Given the description of an element on the screen output the (x, y) to click on. 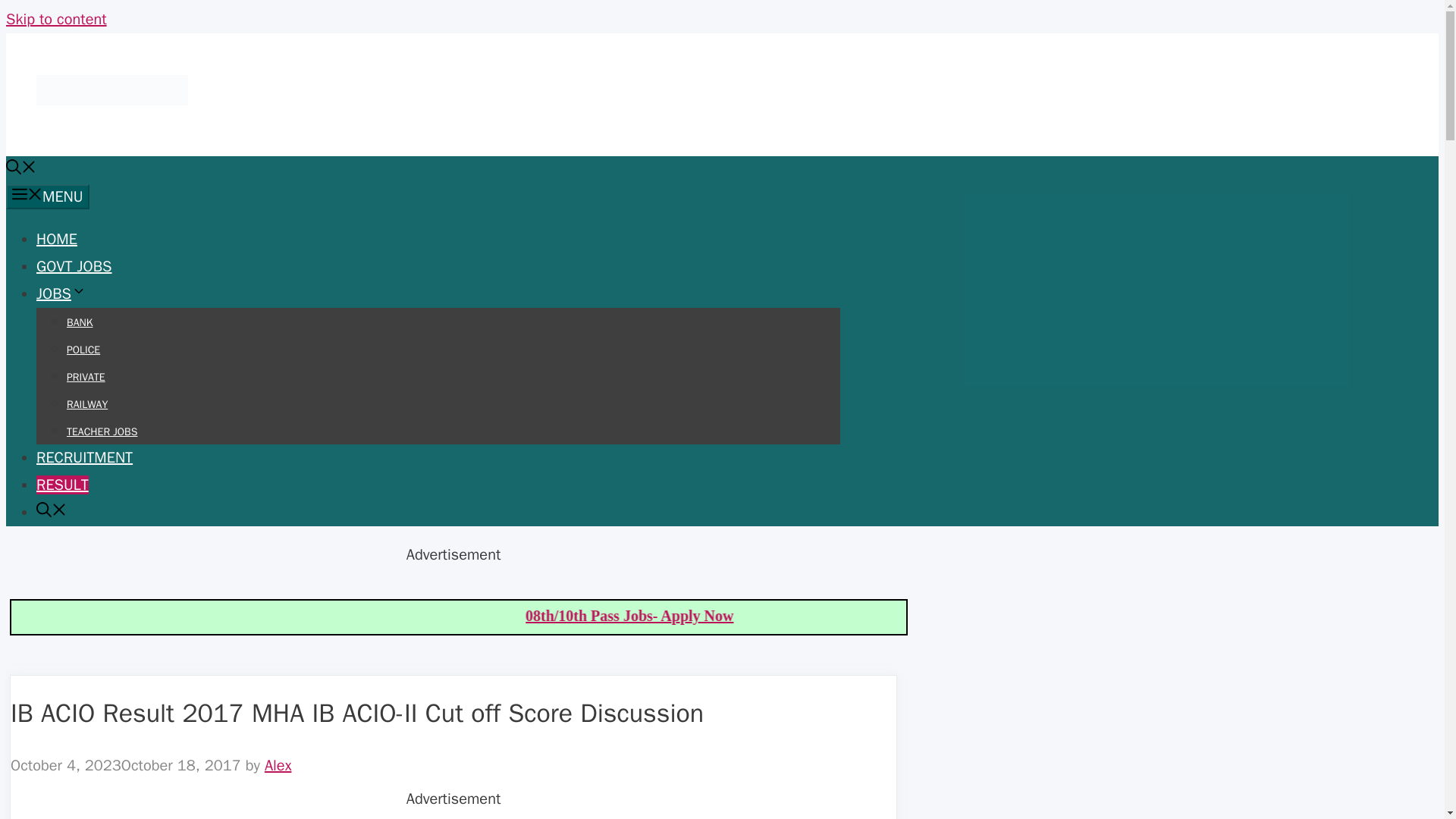
JOBS (60, 293)
Skip to content (55, 18)
RAILWAY (86, 404)
MENU (46, 196)
PRIVATE (85, 377)
TEACHER JOBS (101, 431)
RESULT (62, 484)
Alex (278, 764)
POLICE (83, 349)
Skip to content (55, 18)
HOME (56, 239)
GOVT JOBS (74, 266)
RECRUITMENT (84, 456)
BANK (79, 322)
View all posts by Alex (278, 764)
